Given the description of an element on the screen output the (x, y) to click on. 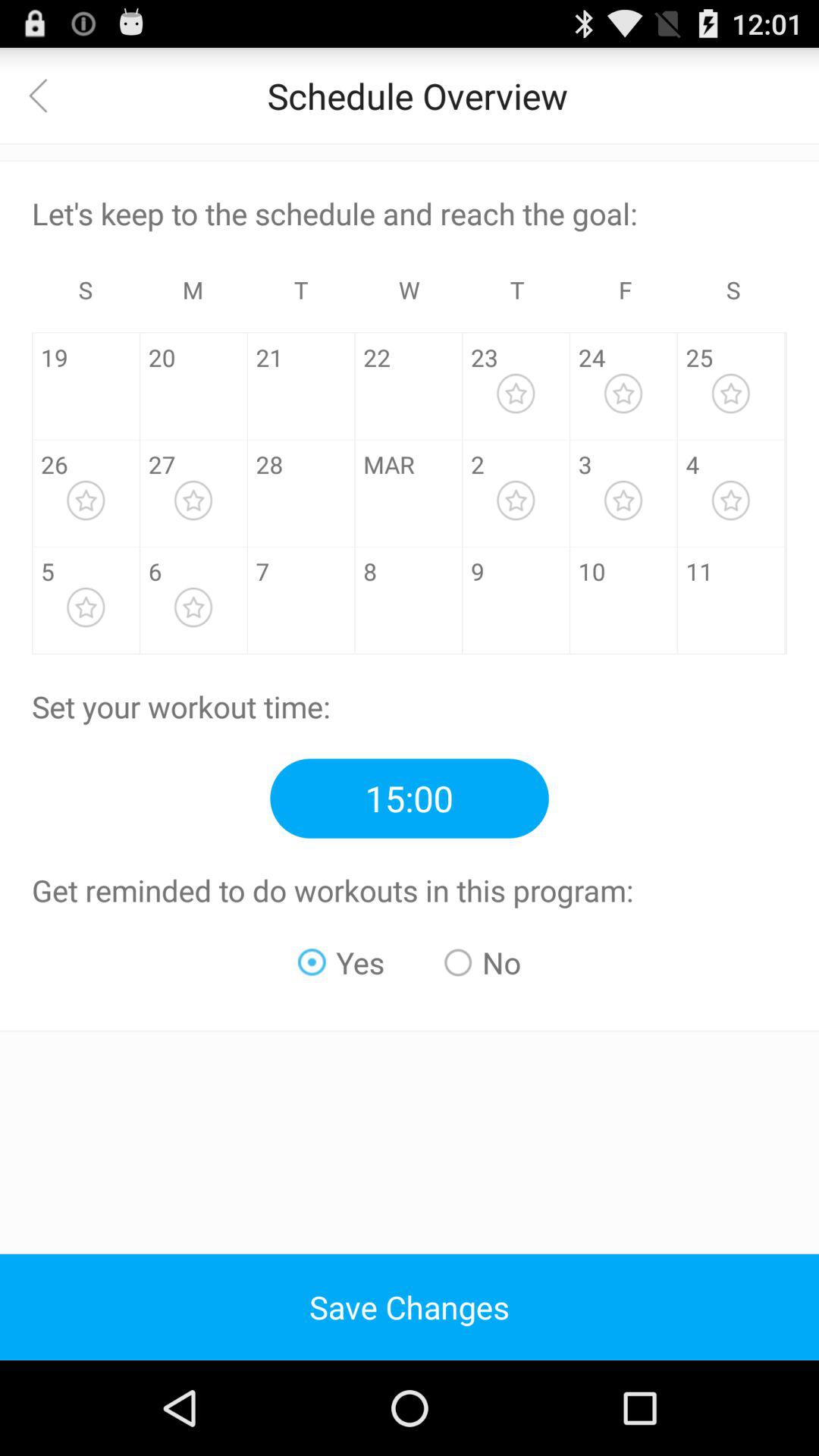
turn off the icon to the left of no icon (341, 962)
